Given the description of an element on the screen output the (x, y) to click on. 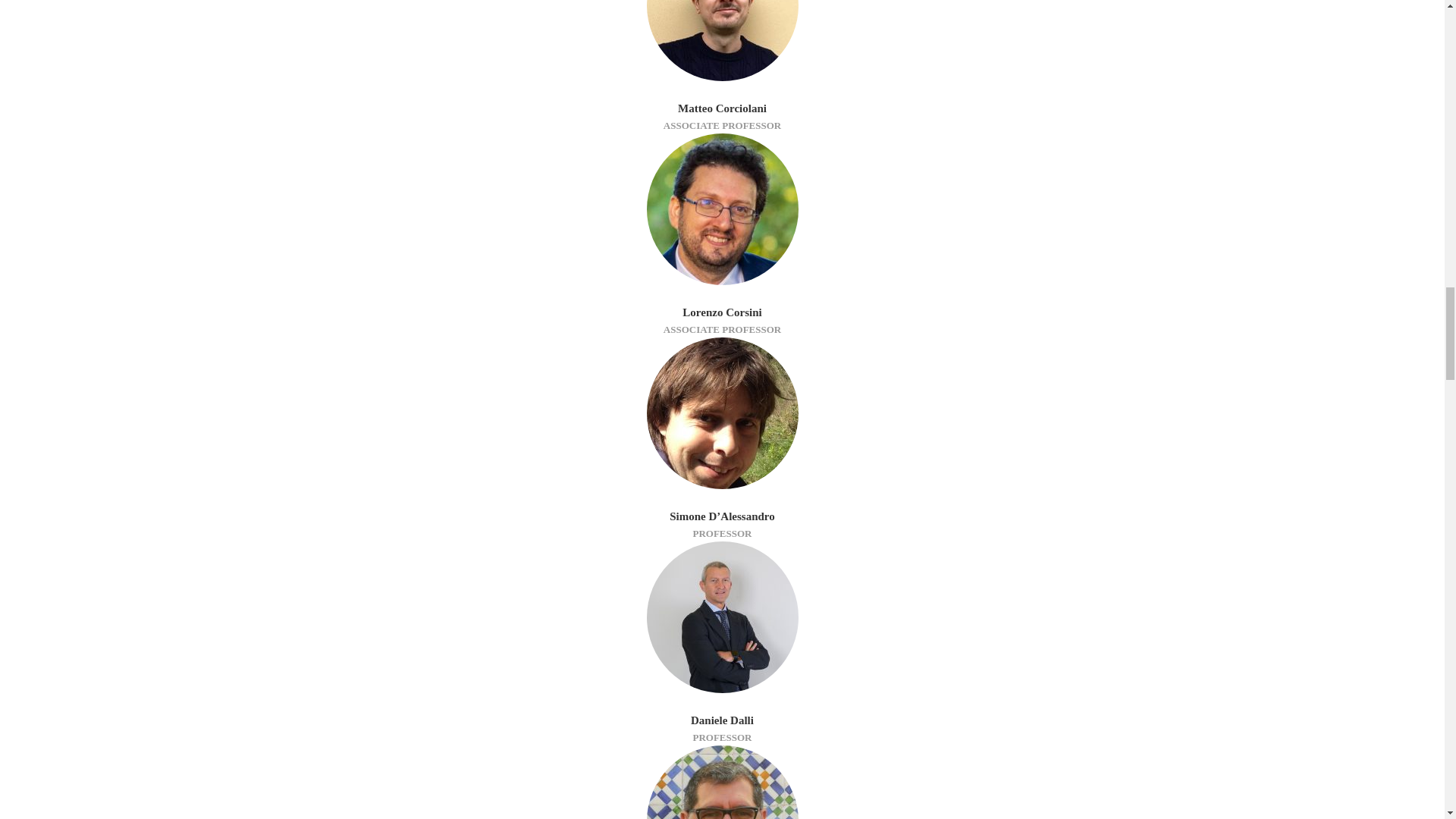
oznor (721, 782)
Versione 2 (721, 40)
Lorenzo (721, 209)
DanieleDelli (721, 616)
